Given the description of an element on the screen output the (x, y) to click on. 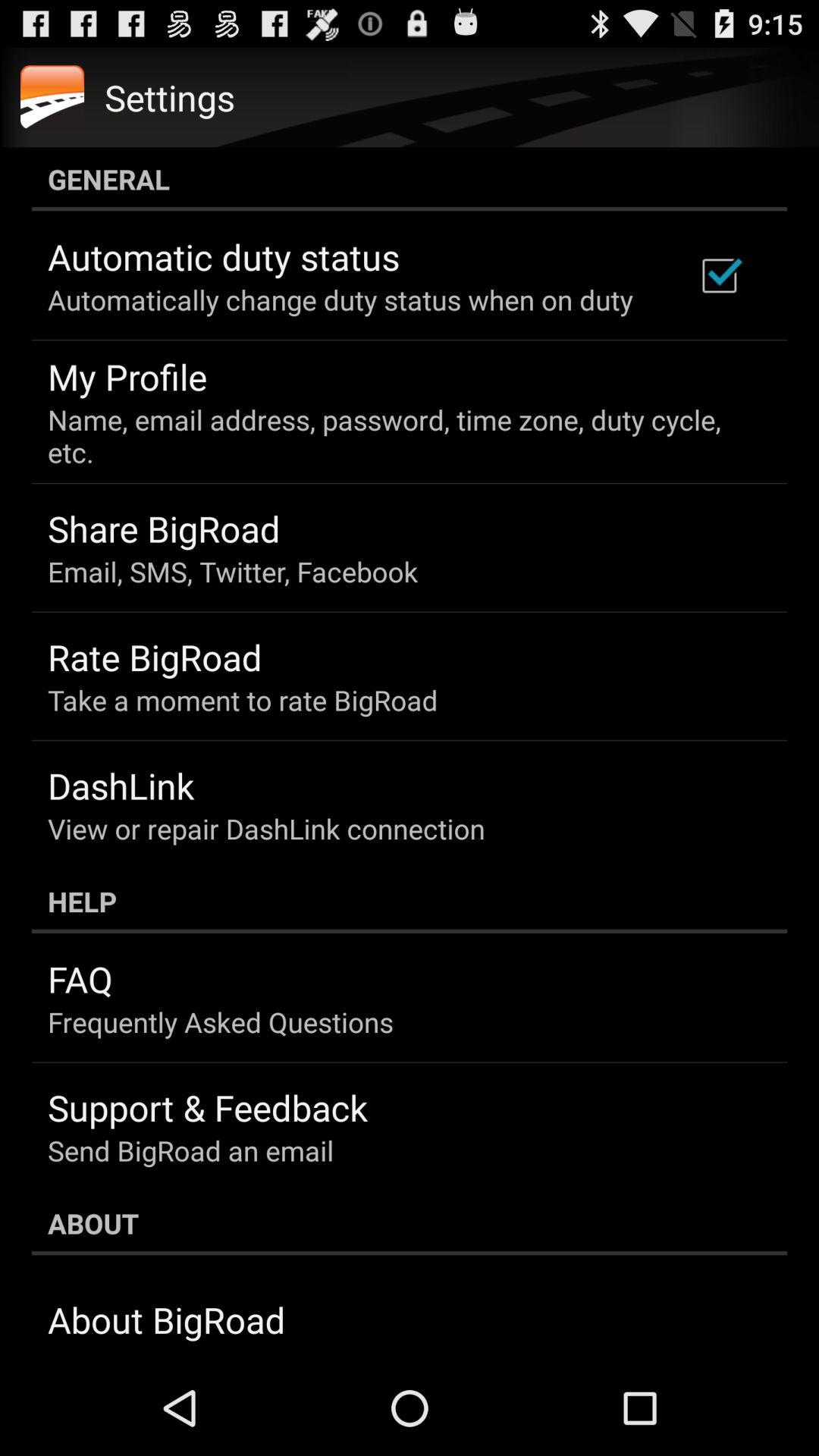
scroll to the automatically change duty (340, 299)
